Given the description of an element on the screen output the (x, y) to click on. 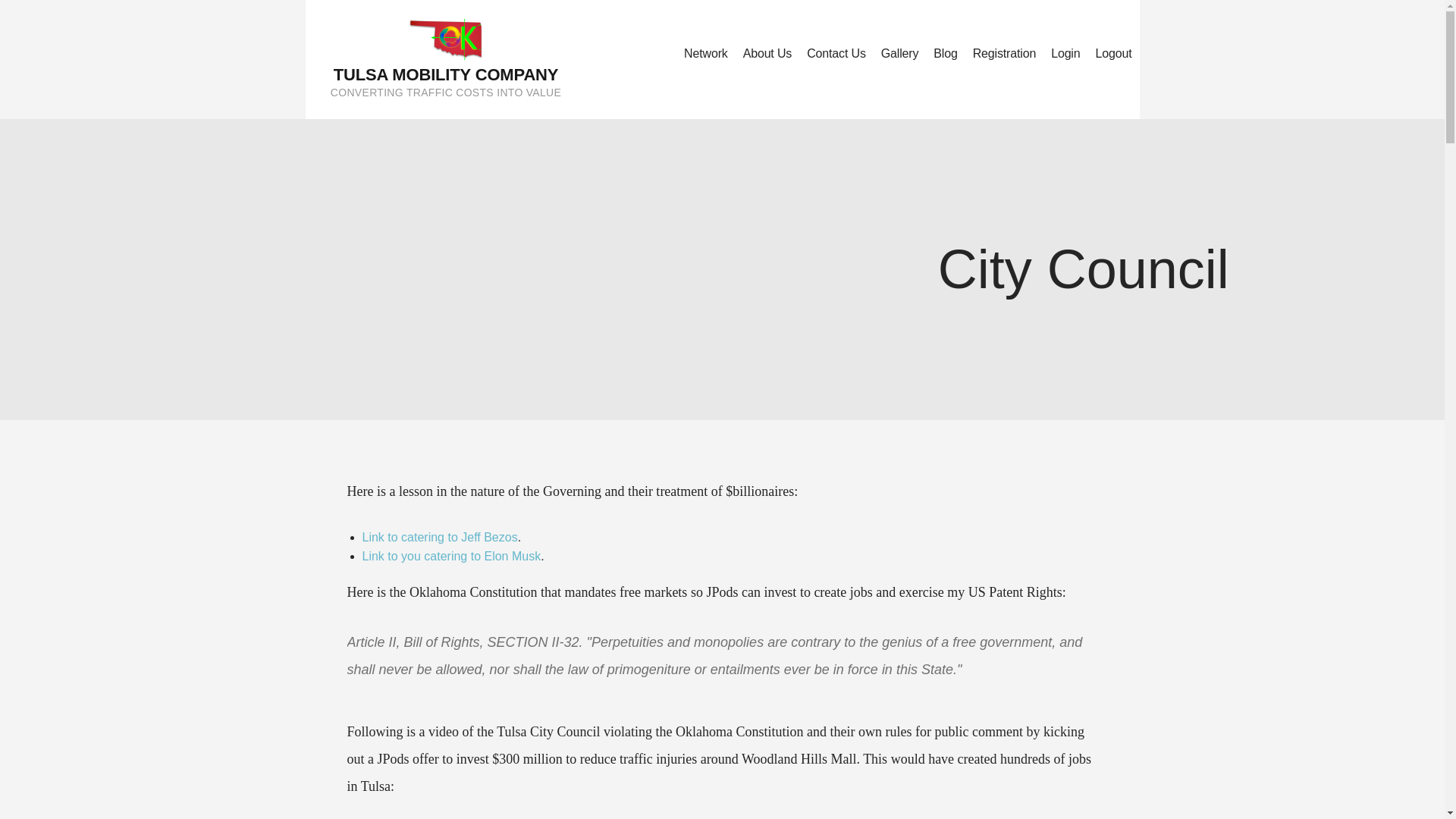
Gallery (899, 54)
Contact Us (836, 54)
Network (706, 54)
TULSA MOBILITY COMPANY (446, 74)
About Us (767, 54)
